Given the description of an element on the screen output the (x, y) to click on. 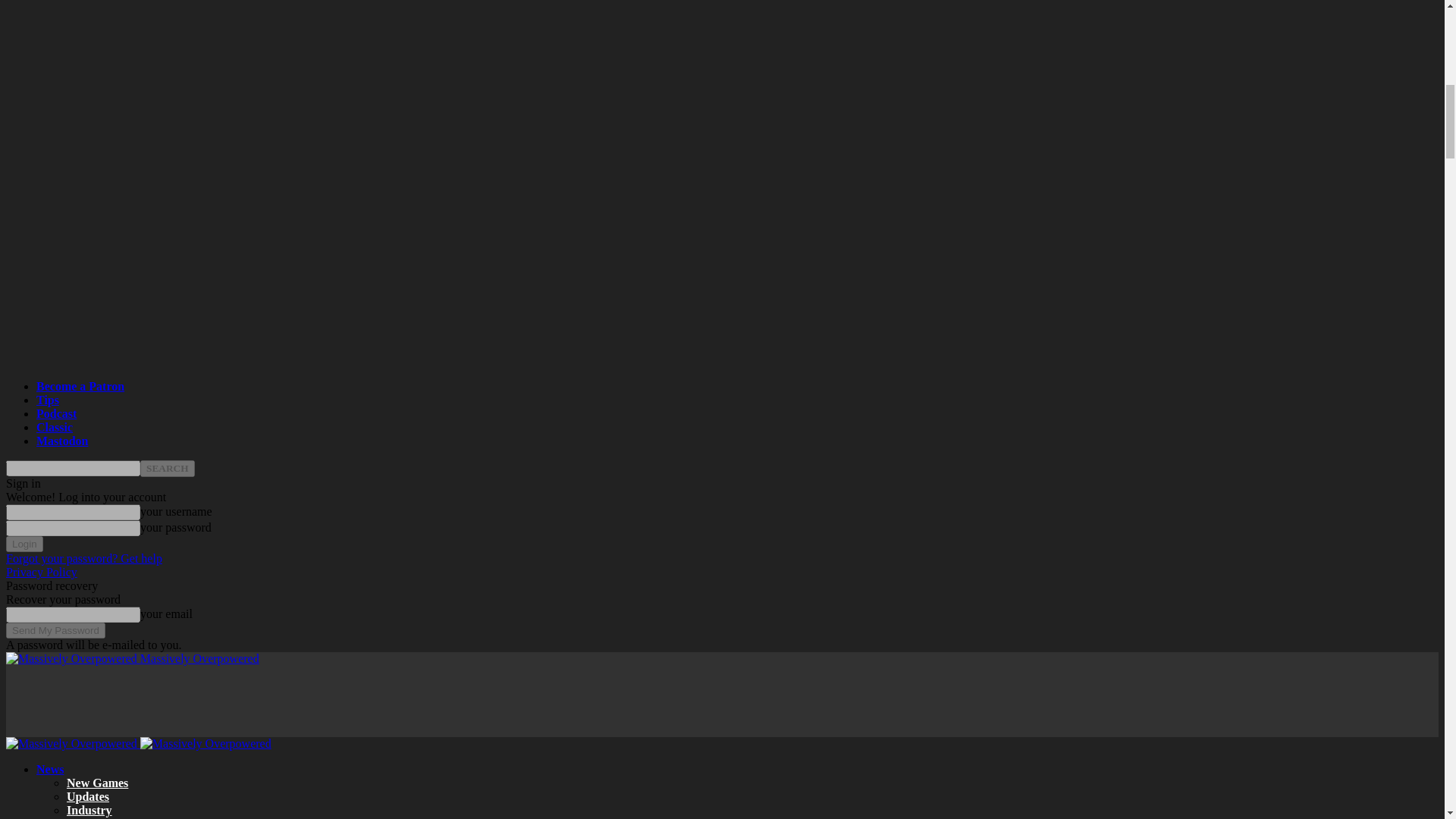
MassivelyOP.com (70, 744)
MassivelyOP.com (70, 658)
Login (24, 544)
Search (167, 468)
Send My Password (54, 630)
MassivelyOP.com (204, 744)
